Given the description of an element on the screen output the (x, y) to click on. 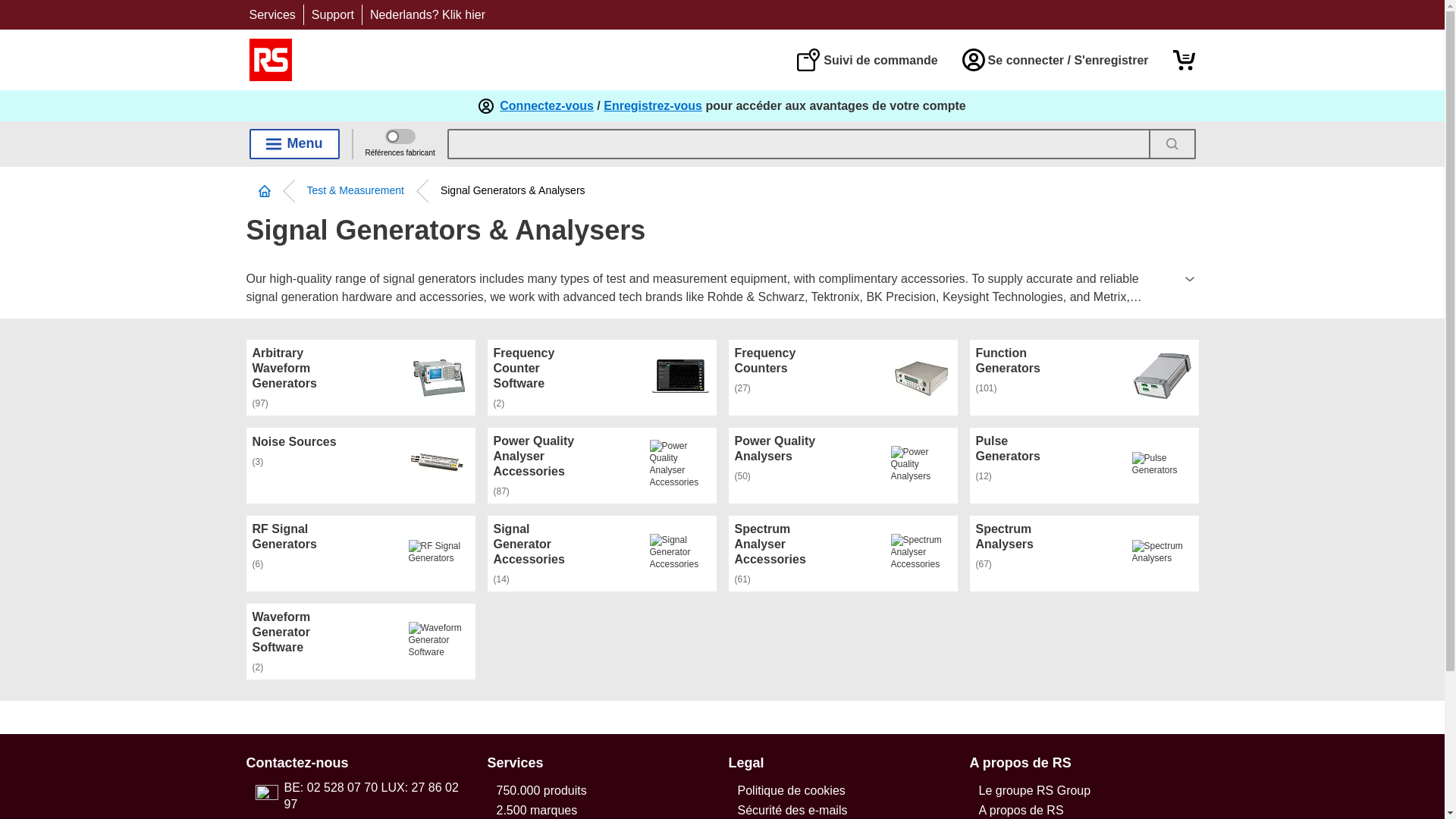
Services (271, 14)
Connectez-vous (546, 105)
Support (332, 14)
Suivi de commande (866, 59)
Menu (293, 143)
Nederlands? Klik hier (426, 14)
Enregistrez-vous (652, 105)
